Given the description of an element on the screen output the (x, y) to click on. 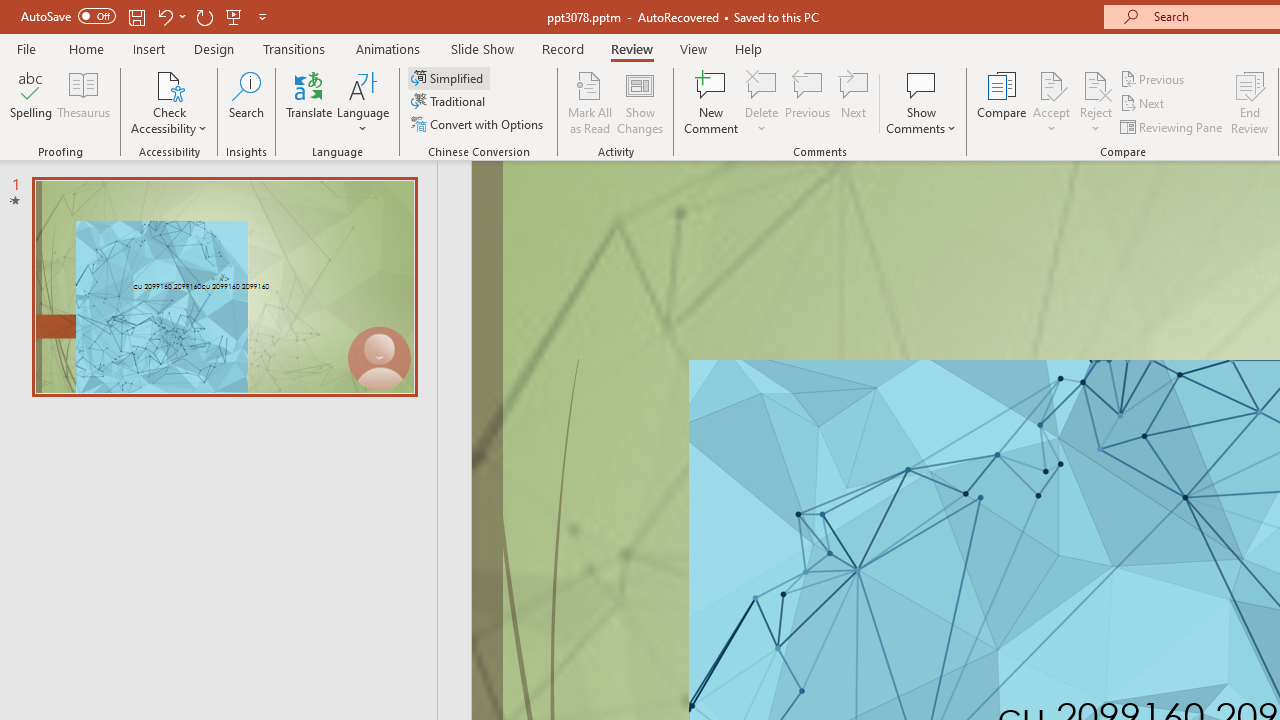
Mark All as Read (589, 102)
Accept Change (1051, 84)
Simplified (449, 78)
Show Changes (639, 102)
Next (1144, 103)
Spelling... (31, 102)
End Review (1249, 102)
Reject (1096, 102)
Convert with Options... (479, 124)
